Given the description of an element on the screen output the (x, y) to click on. 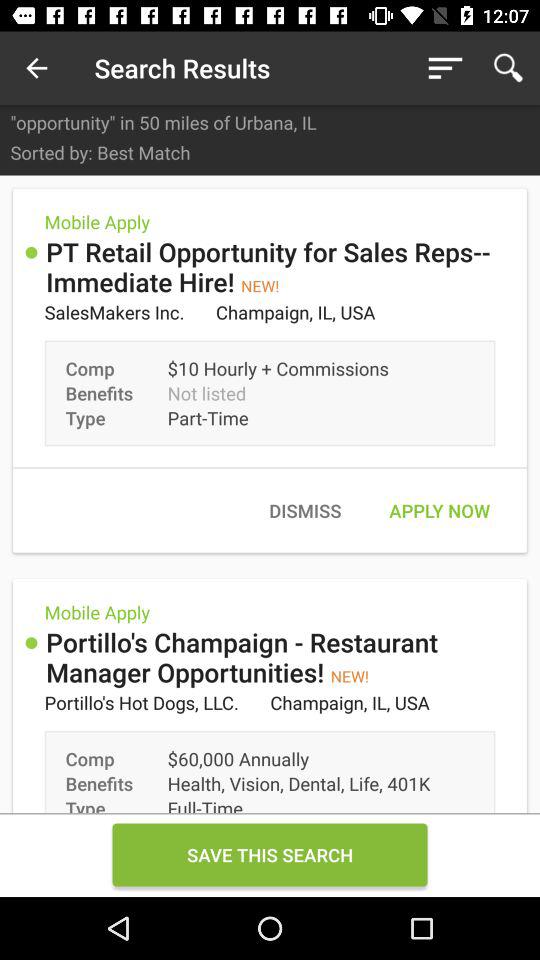
jump until dismiss icon (304, 510)
